Given the description of an element on the screen output the (x, y) to click on. 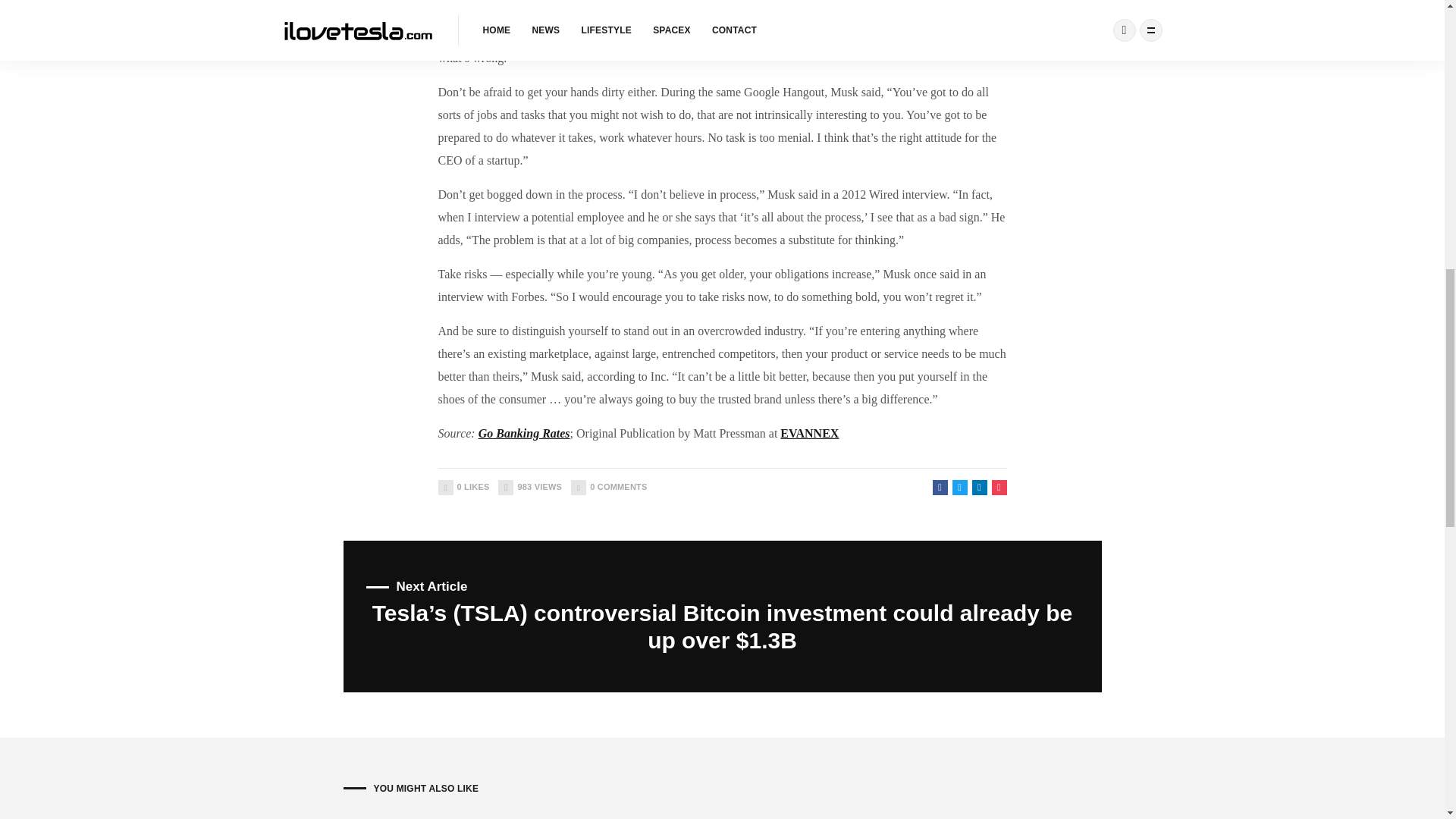
Go Banking Rates (463, 487)
EVANNEX (524, 432)
